Given the description of an element on the screen output the (x, y) to click on. 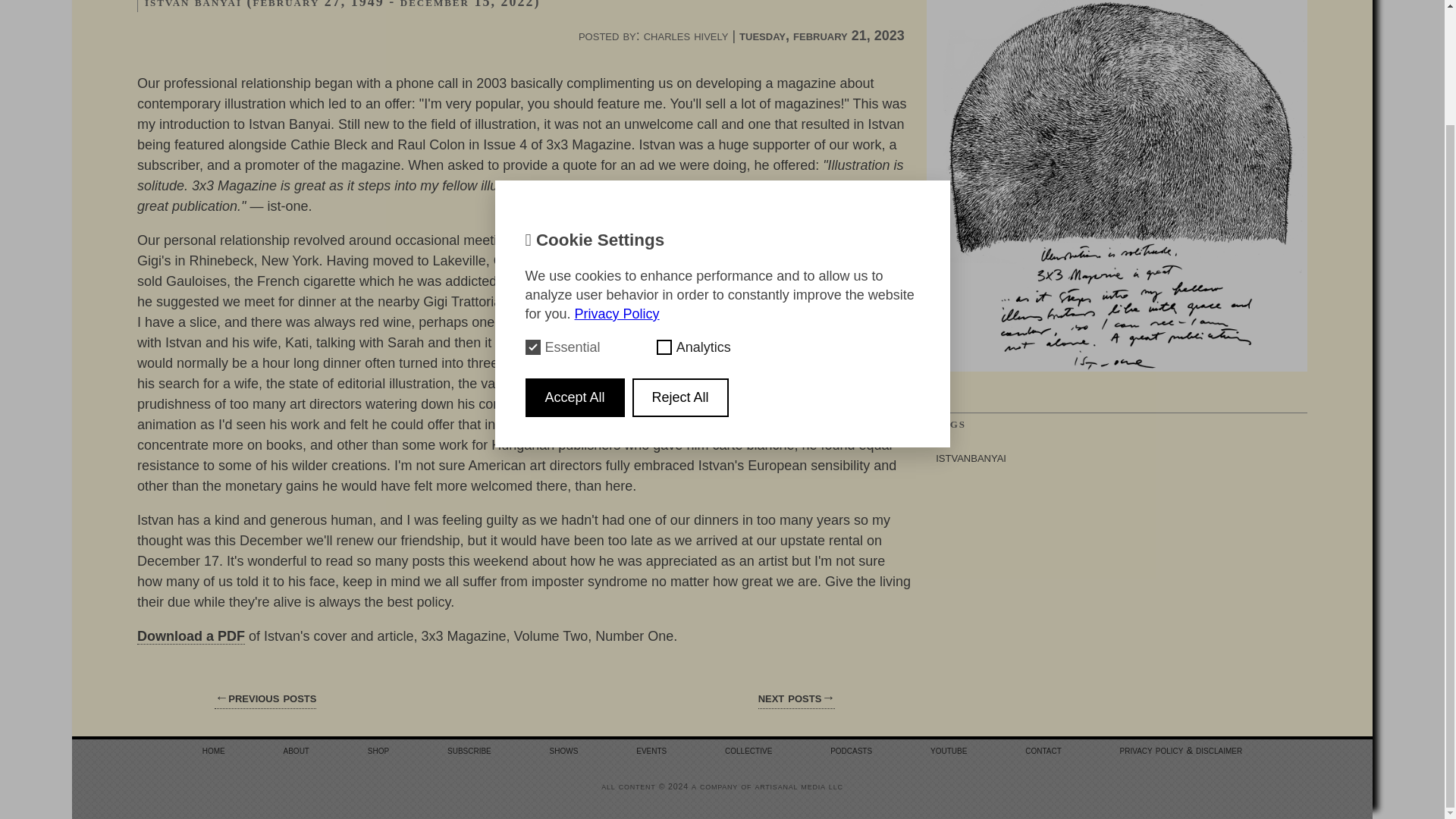
Reject All (680, 260)
Privacy Policy (617, 177)
Download a PDF (190, 636)
on (663, 210)
shows (564, 749)
podcasts (850, 749)
Accept All (574, 260)
events (651, 749)
on (532, 210)
home (213, 749)
shop (378, 749)
collective (748, 749)
about (295, 749)
contact (1043, 749)
Accept All (574, 260)
